Given the description of an element on the screen output the (x, y) to click on. 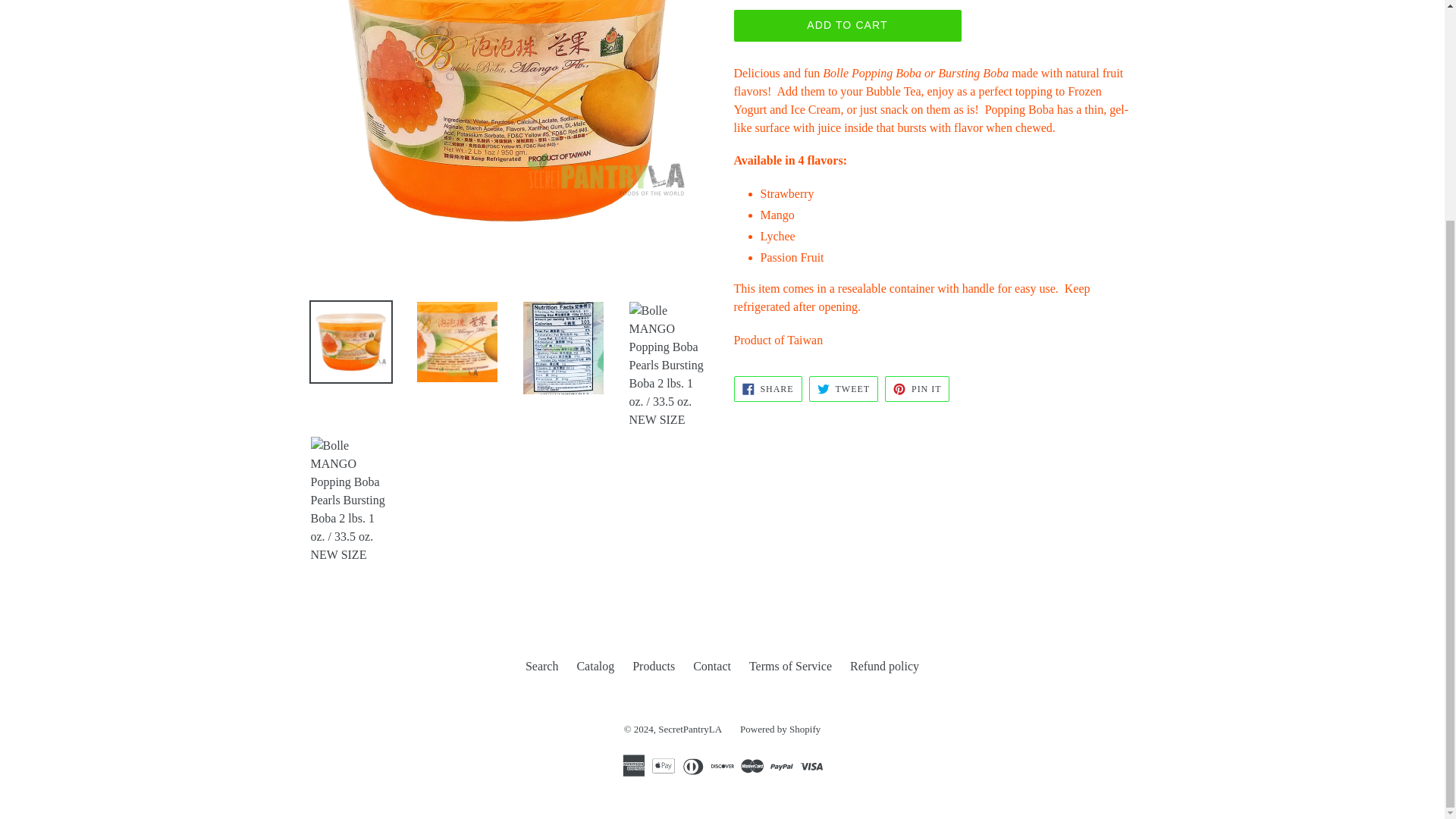
Pin on Pinterest (917, 388)
Tweet on Twitter (843, 388)
Share on Facebook (767, 388)
